Given the description of an element on the screen output the (x, y) to click on. 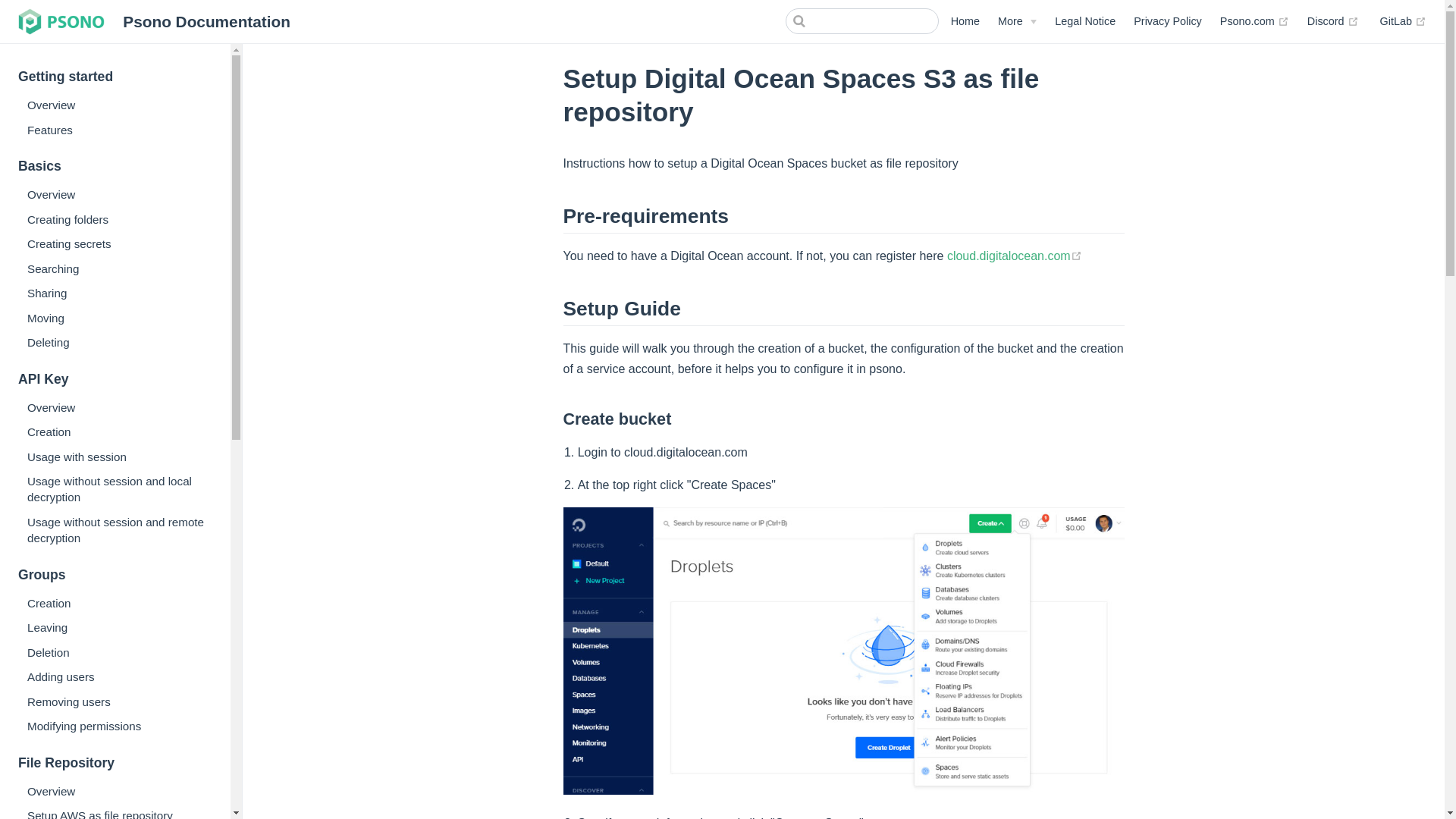
Home (964, 21)
Psono Documentation (153, 22)
More (1016, 21)
Legal Notice (1084, 21)
Privacy Policy (1168, 21)
